Given the description of an element on the screen output the (x, y) to click on. 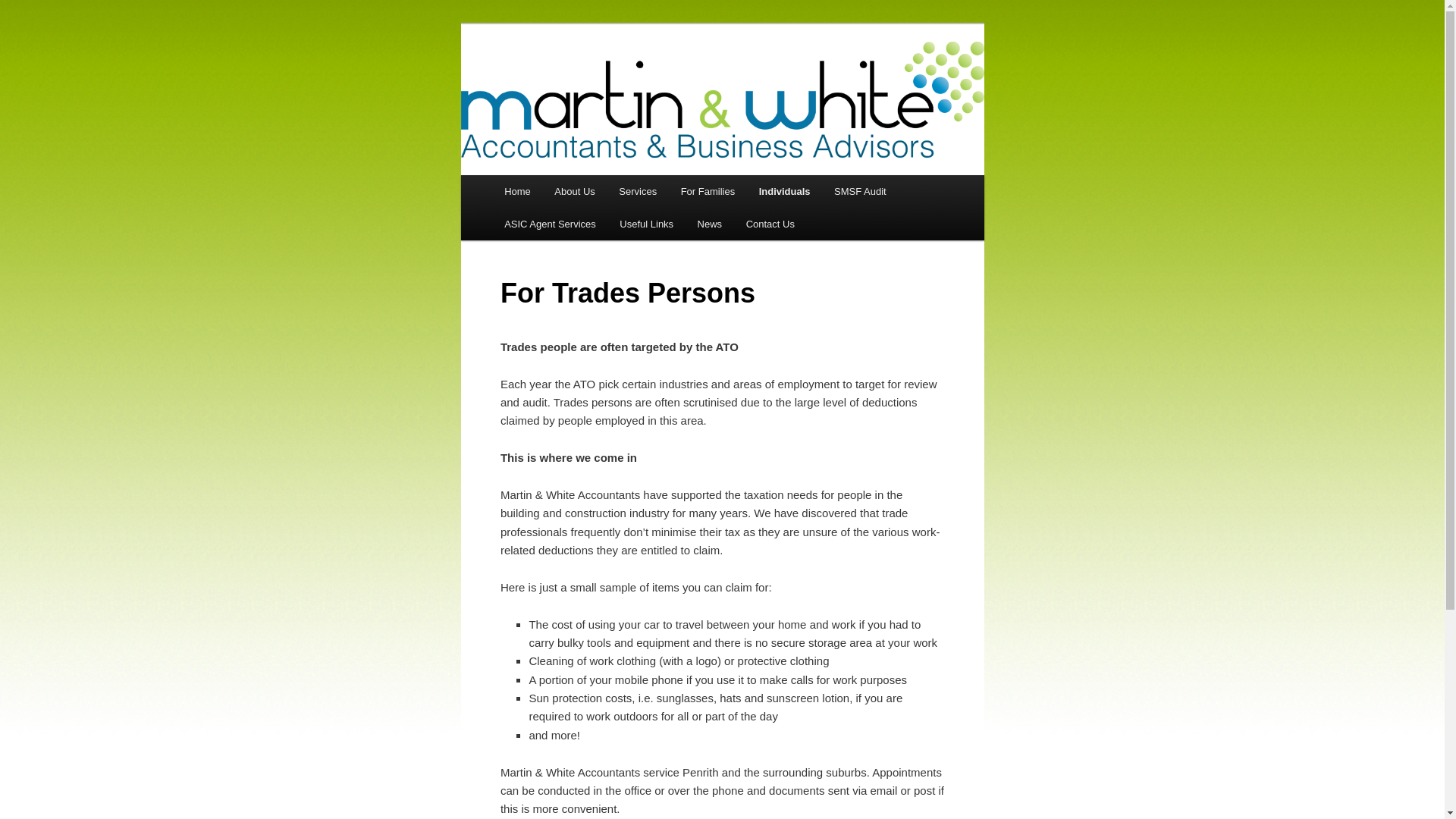
Home Element type: text (517, 191)
ASIC Agent Services Element type: text (549, 223)
SMSF Audit Element type: text (859, 191)
For Families Element type: text (707, 191)
Skip to primary content Element type: text (514, 175)
Useful Links Element type: text (646, 223)
Martin and White Element type: text (592, 78)
Services Element type: text (637, 191)
Individuals Element type: text (784, 191)
Contact Us Element type: text (770, 223)
News Element type: text (709, 223)
About Us Element type: text (574, 191)
